Given the description of an element on the screen output the (x, y) to click on. 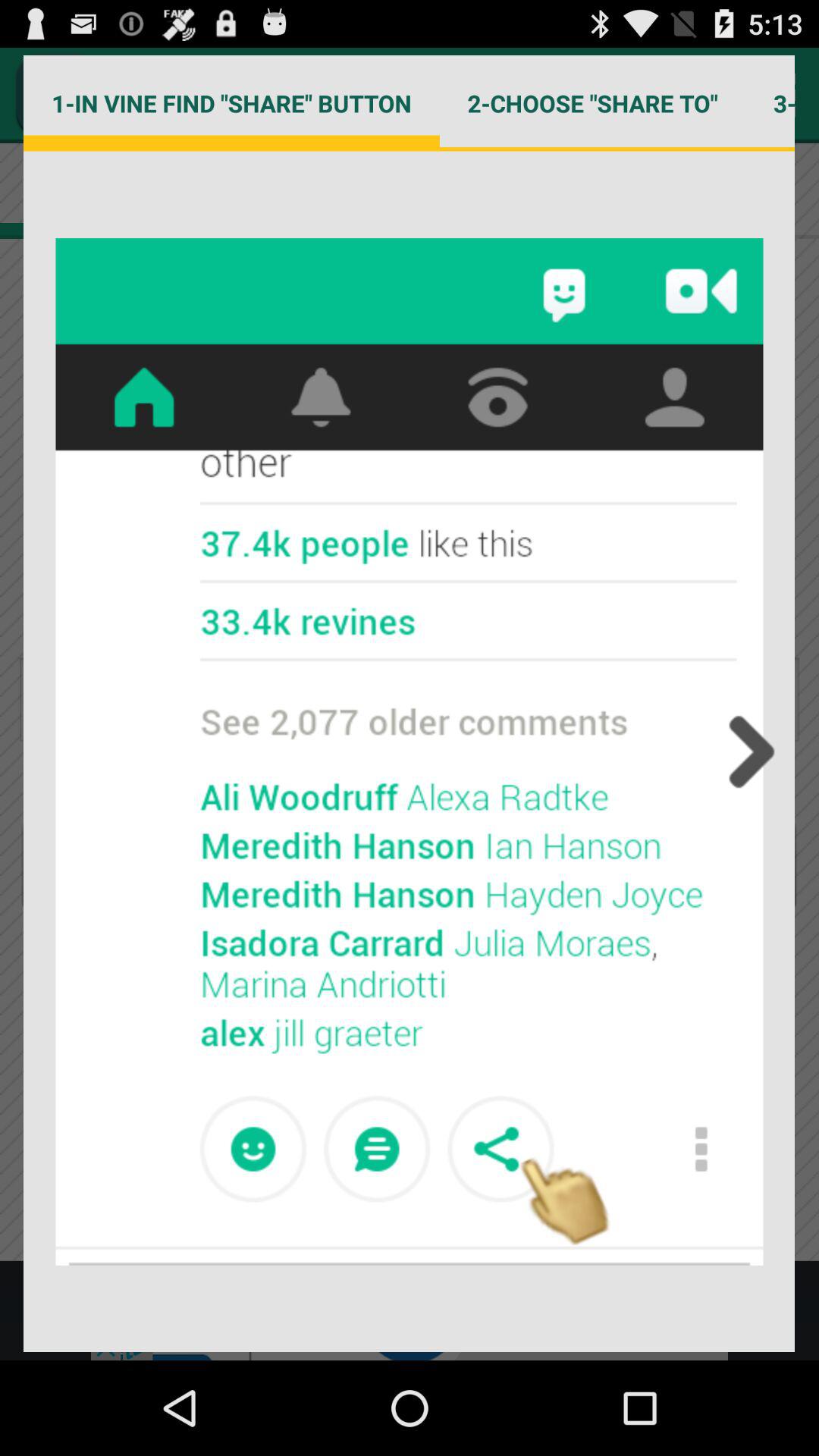
open the 2 choose share (592, 103)
